Given the description of an element on the screen output the (x, y) to click on. 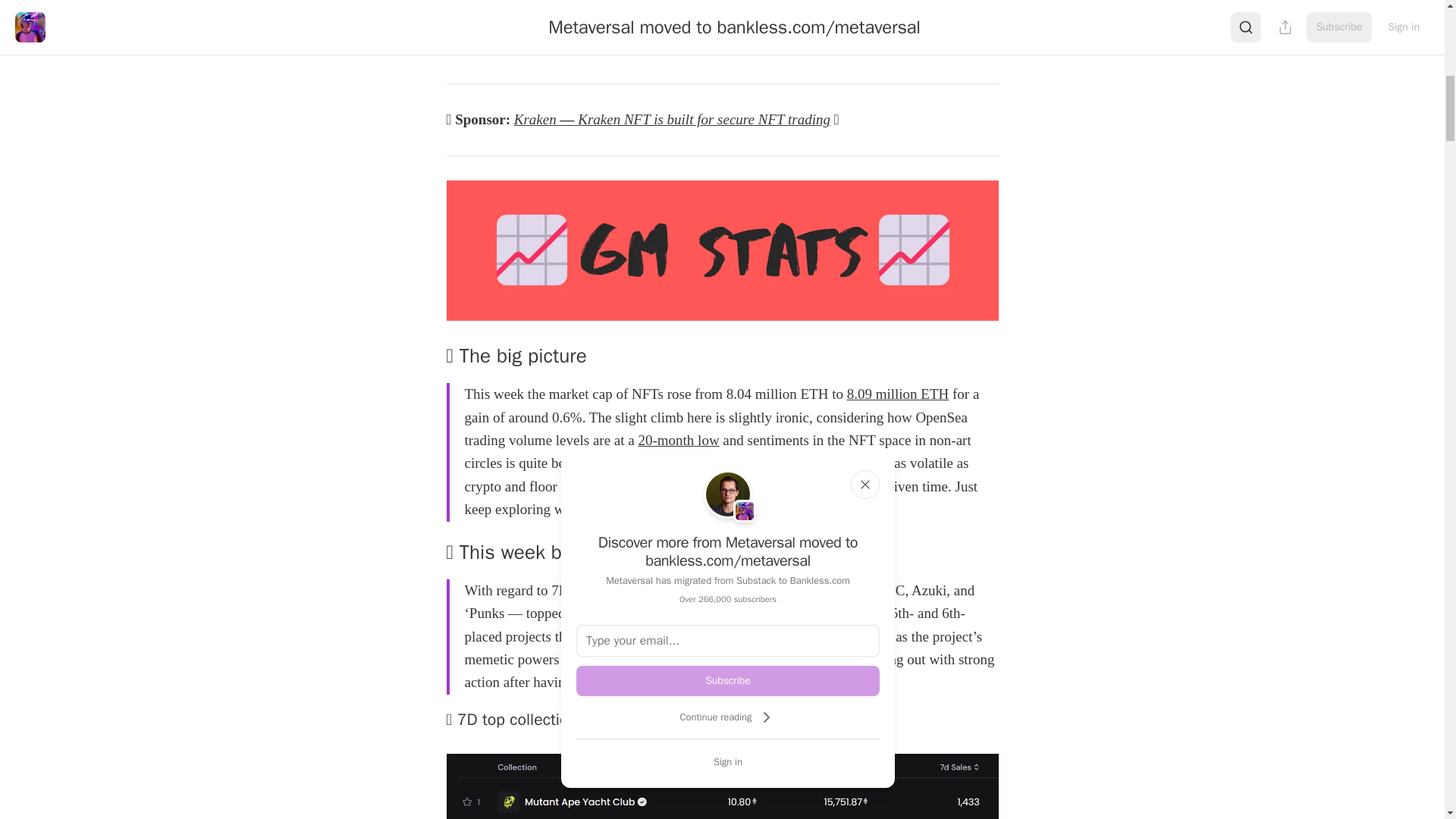
20-month low (678, 439)
Kraken NFT is built for secure NFT trading (703, 119)
Kraken (534, 119)
Subscribe (727, 680)
8.09 million ETH (898, 393)
Sign in (727, 761)
